Given the description of an element on the screen output the (x, y) to click on. 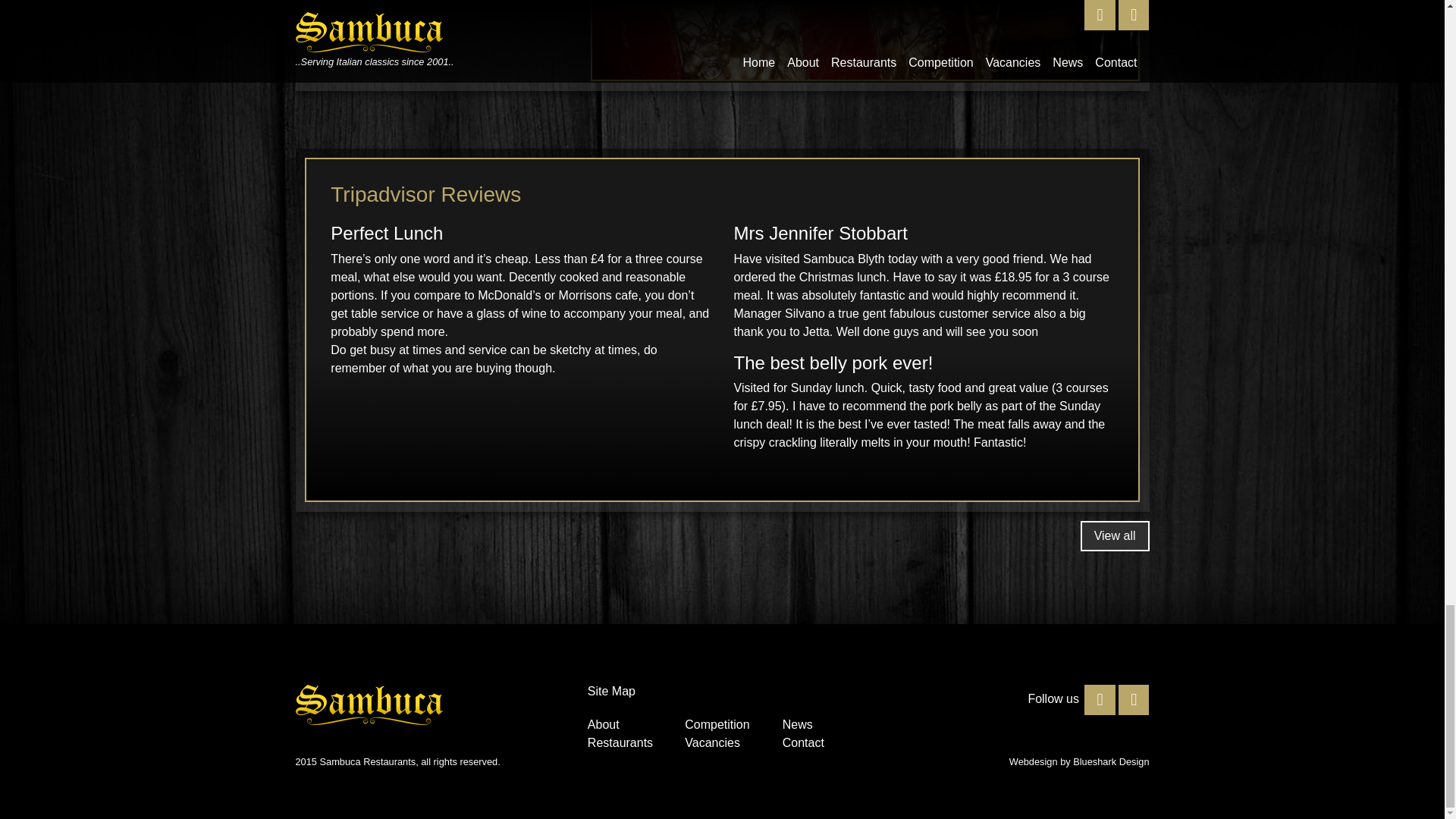
Competition (716, 724)
Contact (803, 742)
News (797, 724)
Vacancies (711, 742)
About (604, 724)
Restaurants (620, 742)
Blueshark Design (1110, 761)
View all (1115, 535)
